Given the description of an element on the screen output the (x, y) to click on. 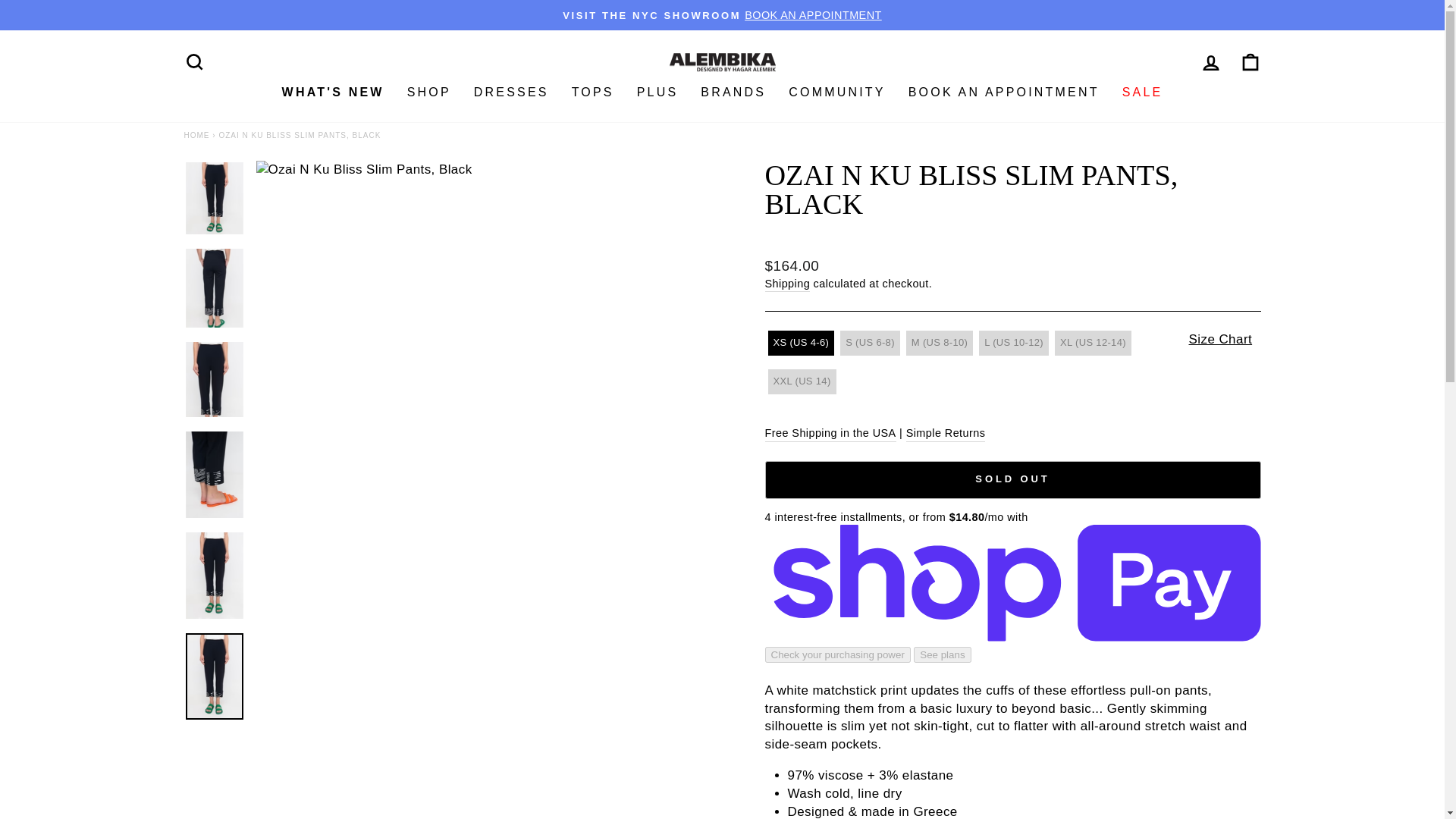
home (197, 135)
ICON-SEARCH (194, 61)
VISIT THE NYC SHOWROOMBOOK AN APPOINTMENT (722, 14)
ACCOUNT (1210, 62)
ICON-BAG-MINIMAL (1249, 61)
